Given the description of an element on the screen output the (x, y) to click on. 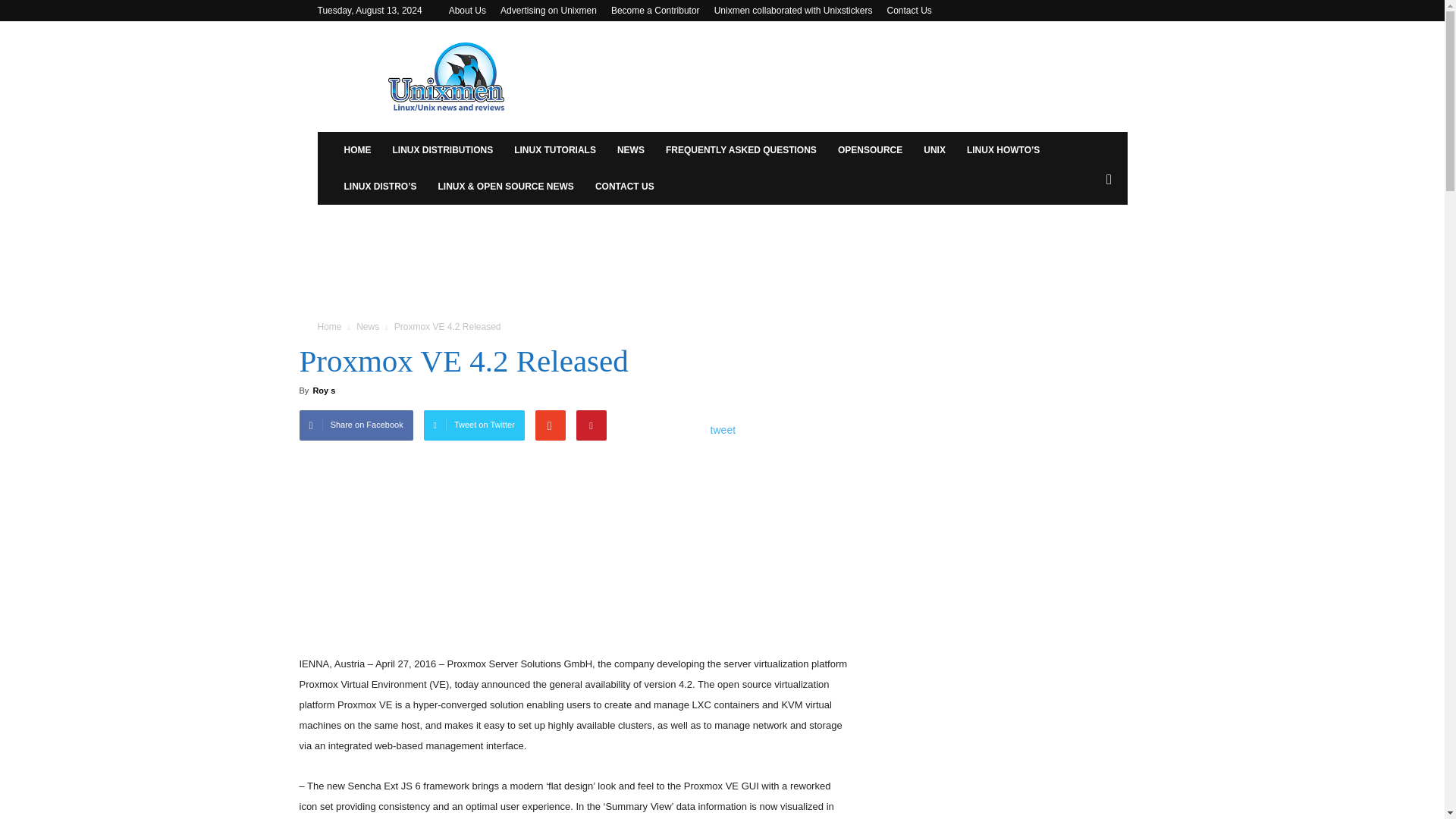
UNIX (934, 149)
NEWS (631, 149)
Advertising on Unixmen (548, 9)
View all posts in News (367, 326)
OPENSOURCE (869, 149)
Become a Contributor (655, 9)
About Us (467, 9)
HOME (357, 149)
LINUX DISTRIBUTIONS (442, 149)
Unixmen (445, 76)
